Given the description of an element on the screen output the (x, y) to click on. 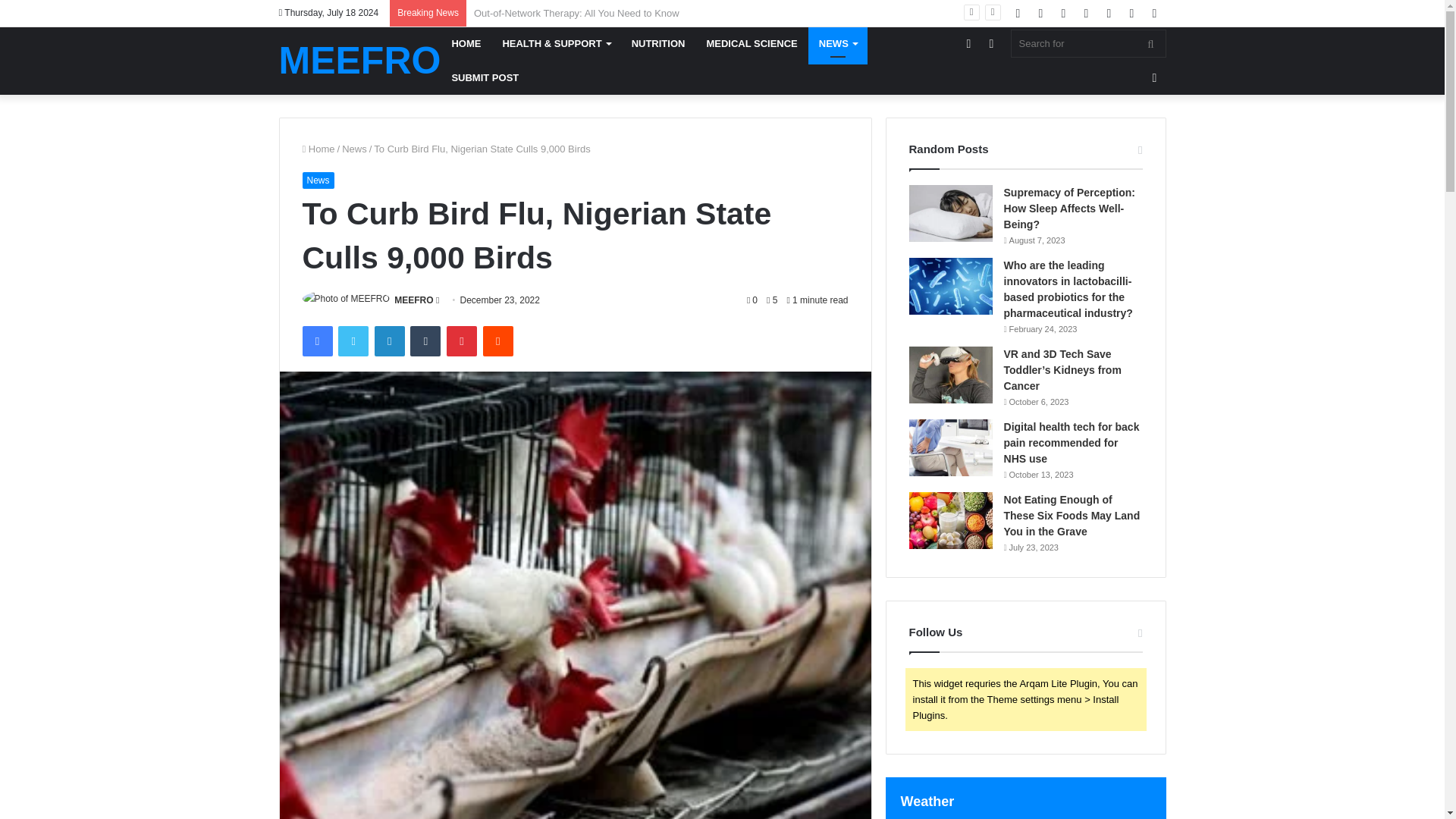
MEEFRO (360, 60)
Pinterest (461, 340)
MEDICAL SCIENCE (751, 43)
Send an email (437, 299)
Facebook (316, 340)
Instagram (1086, 13)
Sidebar (967, 43)
Send an email (437, 299)
Tumblr (425, 340)
MEEFRO (360, 60)
Tumblr (425, 340)
News (354, 148)
YouTube (1063, 13)
Pinterest (461, 340)
Reddit (498, 340)
